Given the description of an element on the screen output the (x, y) to click on. 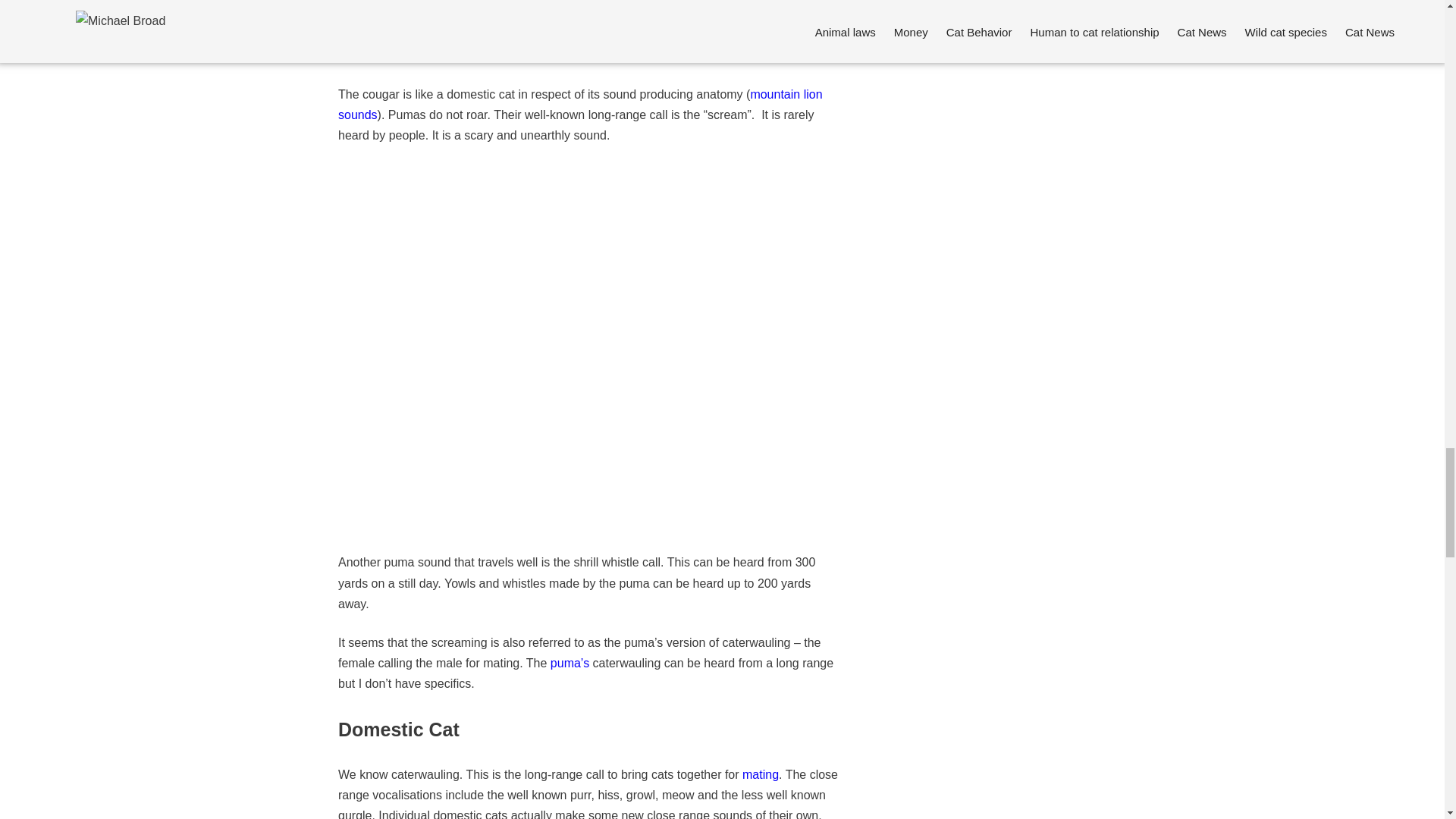
mountain lion sounds (579, 104)
mating (760, 774)
